Given the description of an element on the screen output the (x, y) to click on. 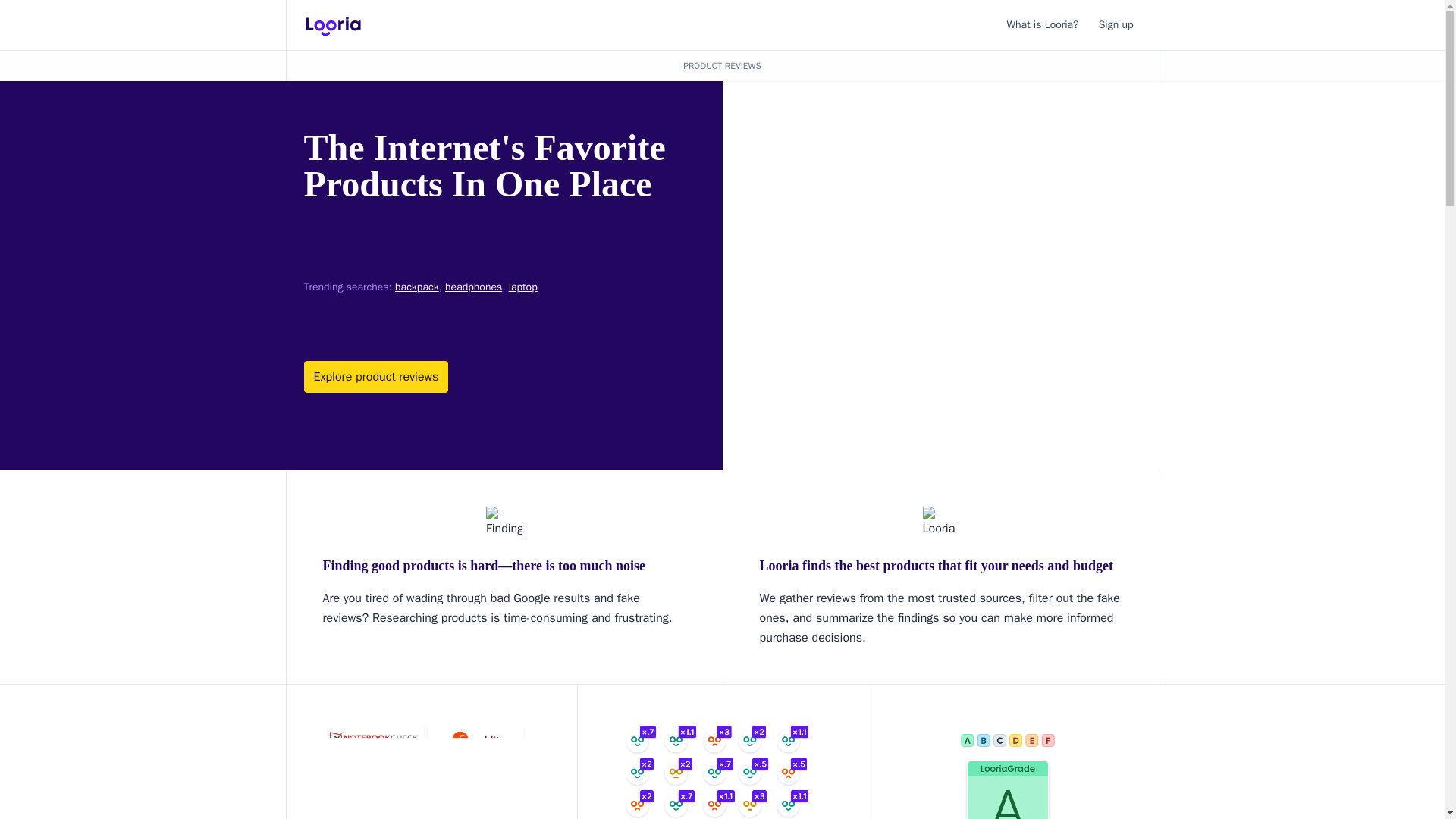
headphones (473, 286)
backpack (416, 286)
Explore product reviews (375, 377)
laptop (522, 286)
Sign up (1116, 24)
What is Looria? (1043, 24)
